Given the description of an element on the screen output the (x, y) to click on. 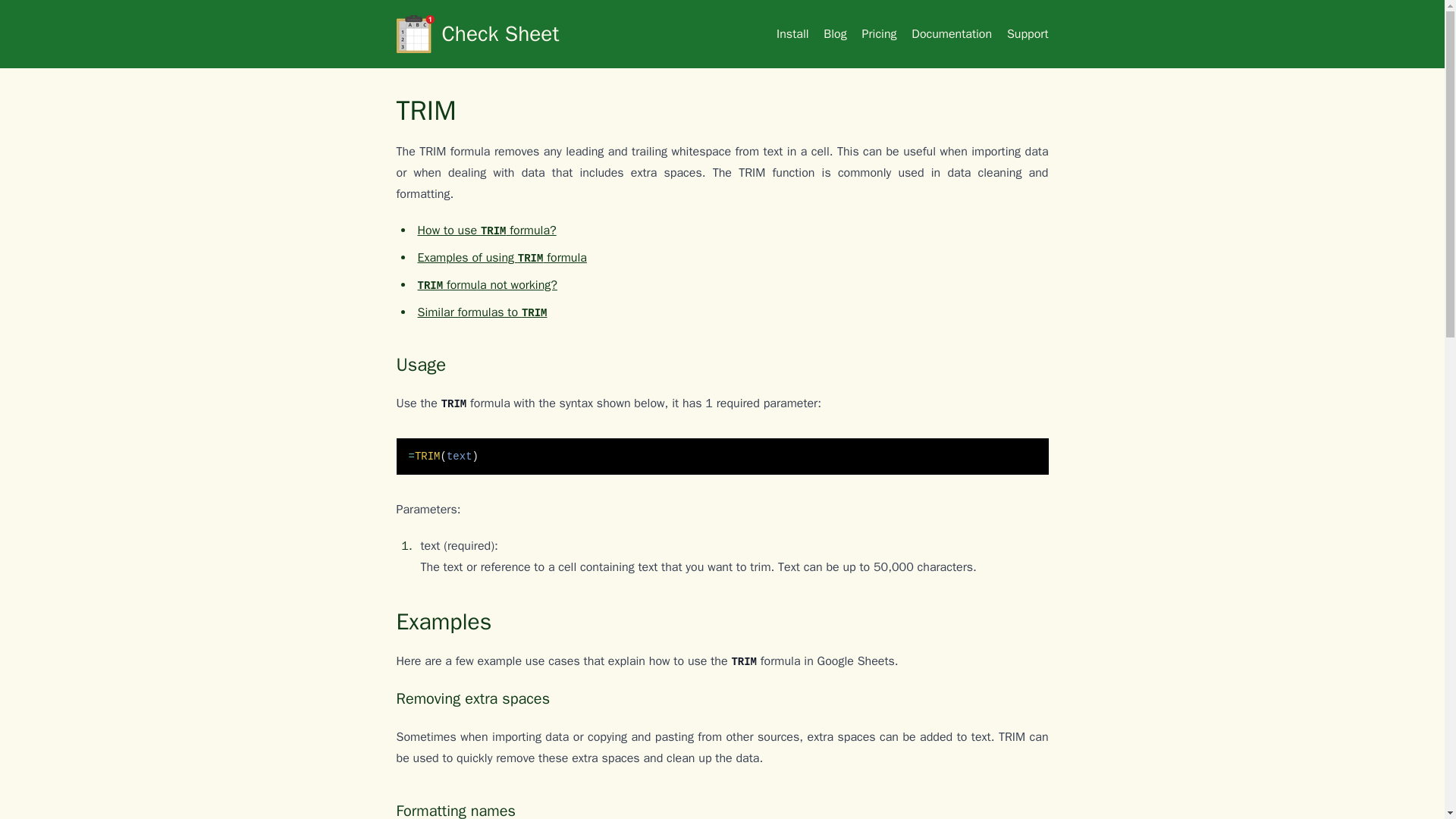
Install (792, 33)
Examples of using TRIM formula (501, 257)
Support (1027, 33)
TRIM formula not working? (486, 284)
Check Sheet - Google Sheets Notification (529, 34)
How to use TRIM formula? (486, 230)
Check Sheet (529, 34)
Similar formulas to TRIM (481, 312)
Pricing (878, 33)
Documentation (951, 33)
